Given the description of an element on the screen output the (x, y) to click on. 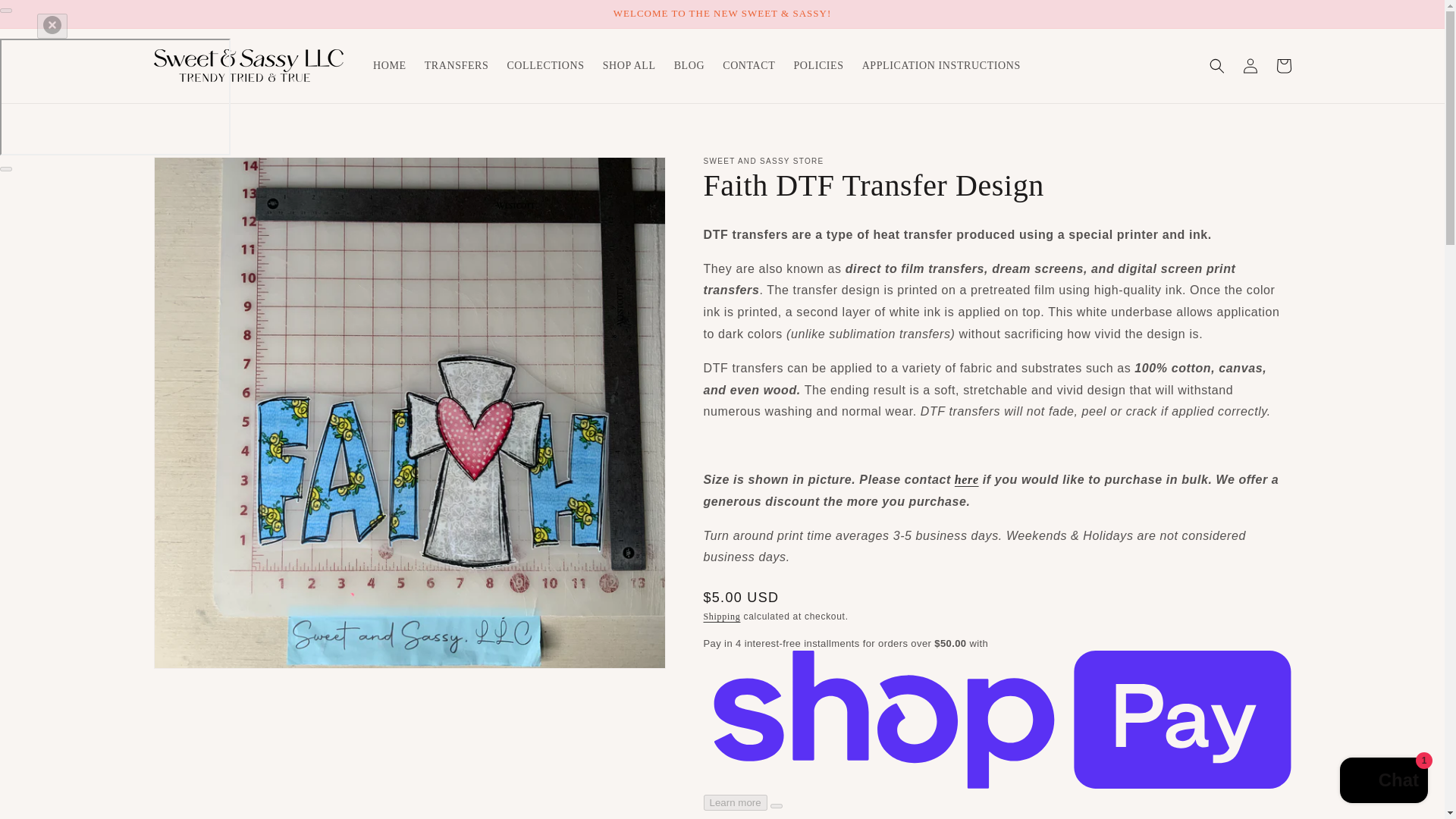
Cart (1283, 65)
SHOP ALL (629, 65)
COLLECTIONS (544, 65)
POLICIES (817, 65)
Skip to content (45, 16)
Contact (966, 479)
here (966, 479)
CONTACT (748, 65)
Shopify online store chat (1383, 781)
TRANSFERS (455, 65)
Skip to product information (198, 173)
APPLICATION INSTRUCTIONS (941, 65)
Log in (1249, 65)
BLOG (689, 65)
Shipping (722, 615)
